Given the description of an element on the screen output the (x, y) to click on. 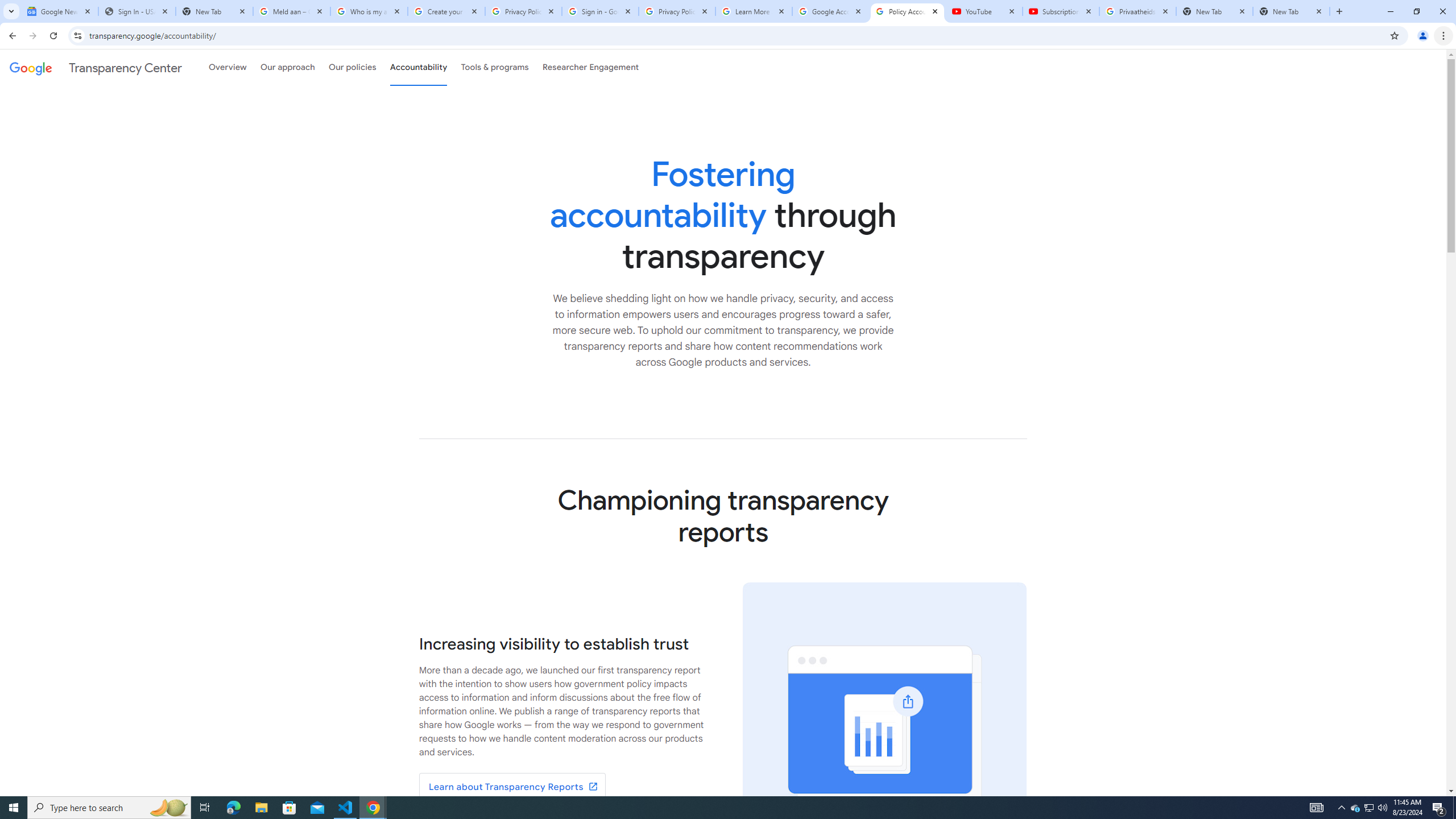
Subscriptions - YouTube (1061, 11)
Google News (59, 11)
Create your Google Account (446, 11)
New Tab (1291, 11)
Who is my administrator? - Google Account Help (368, 11)
Researcher Engagement (590, 67)
